Given the description of an element on the screen output the (x, y) to click on. 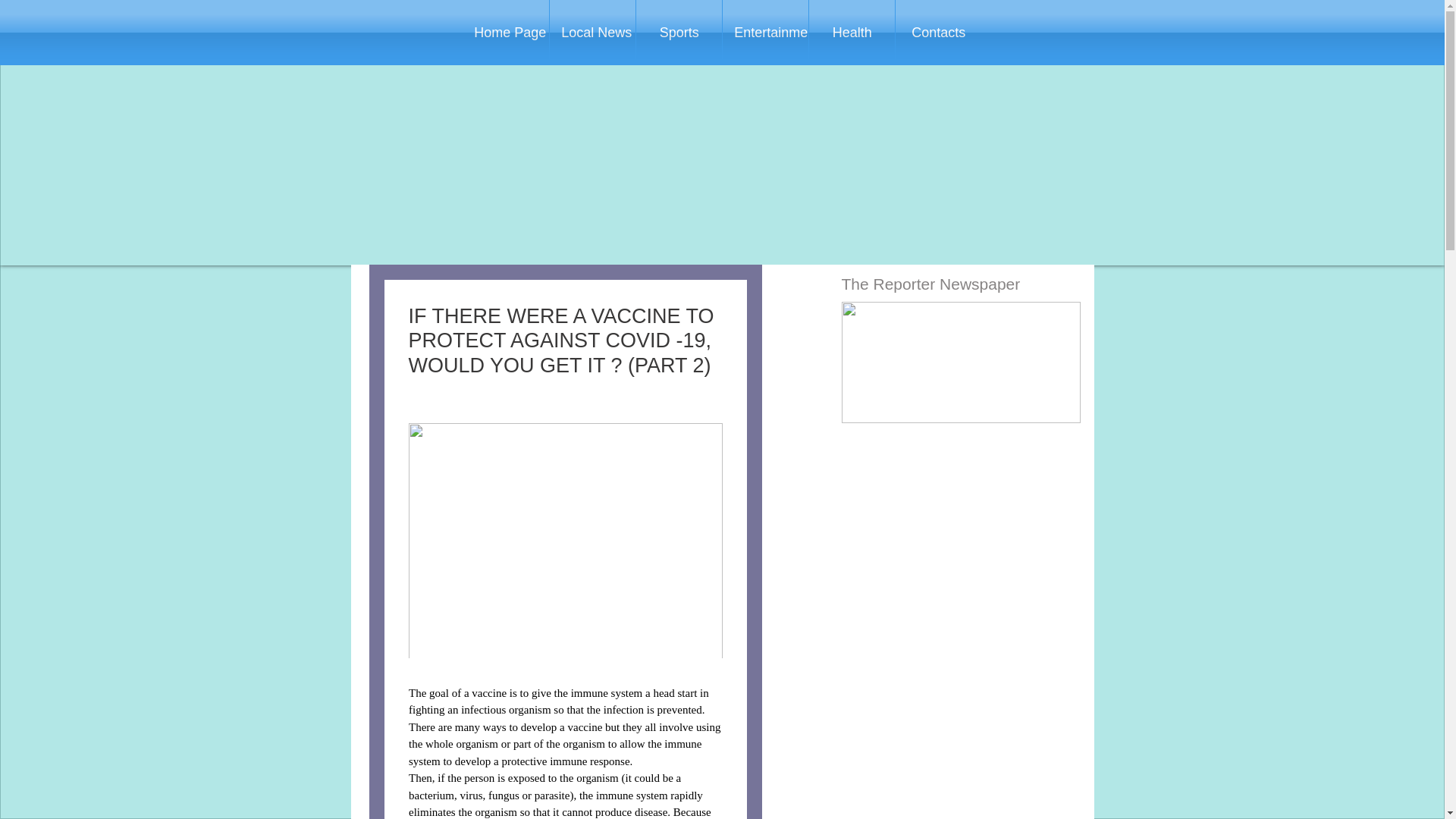
Home Page (505, 32)
Sports (679, 32)
Entertainment (765, 32)
Local News (592, 32)
Contacts (938, 32)
Health (852, 32)
